Given the description of an element on the screen output the (x, y) to click on. 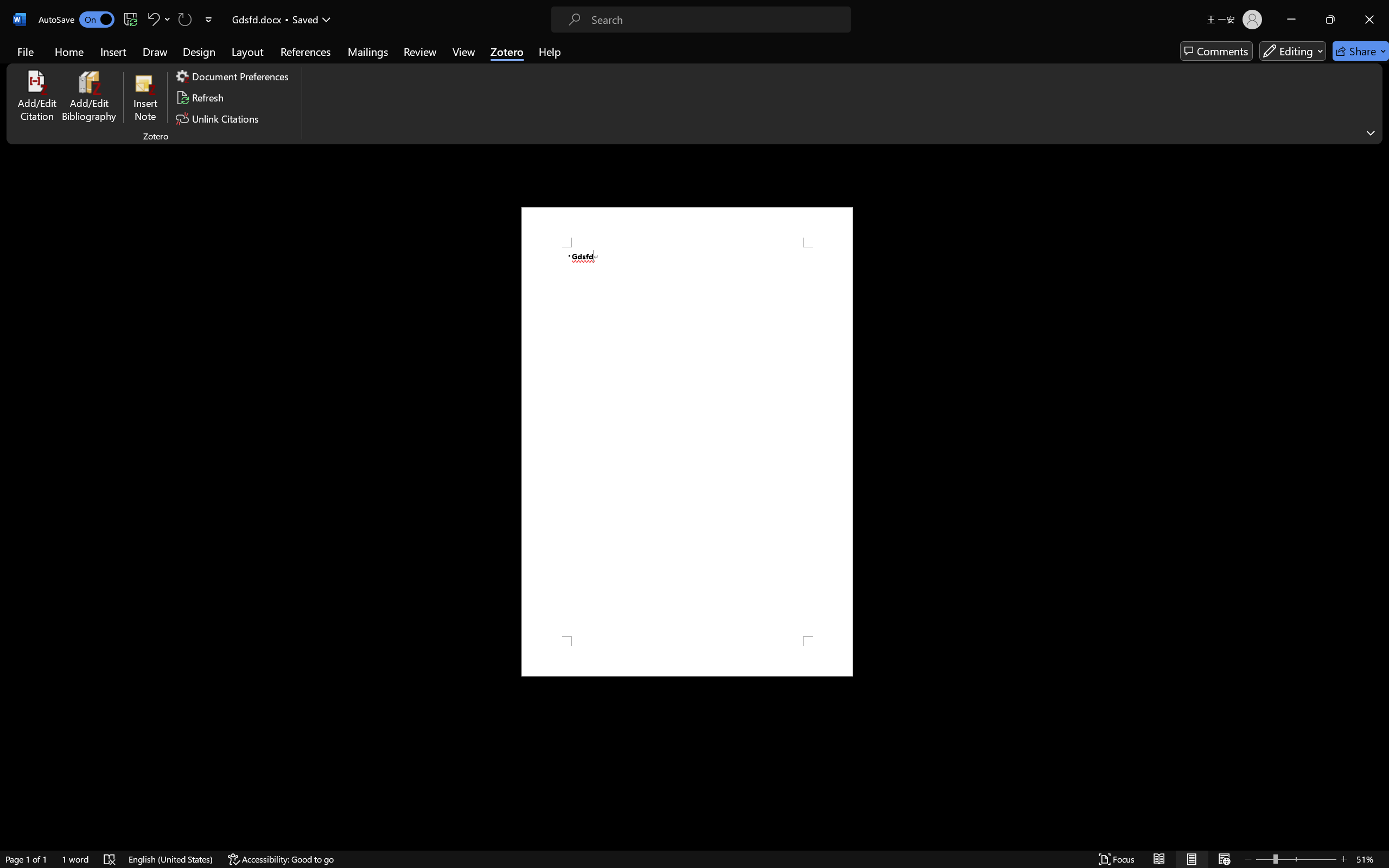
Line Arrow (550, 48)
Freeform: Scribble (528, 72)
Decrease Indent (380, 52)
Arrow: Down (572, 60)
Underline (199, 71)
Keep accessibility checker running while I work (1291, 479)
Increase Font Size (283, 52)
Text Direction (453, 47)
